Given the description of an element on the screen output the (x, y) to click on. 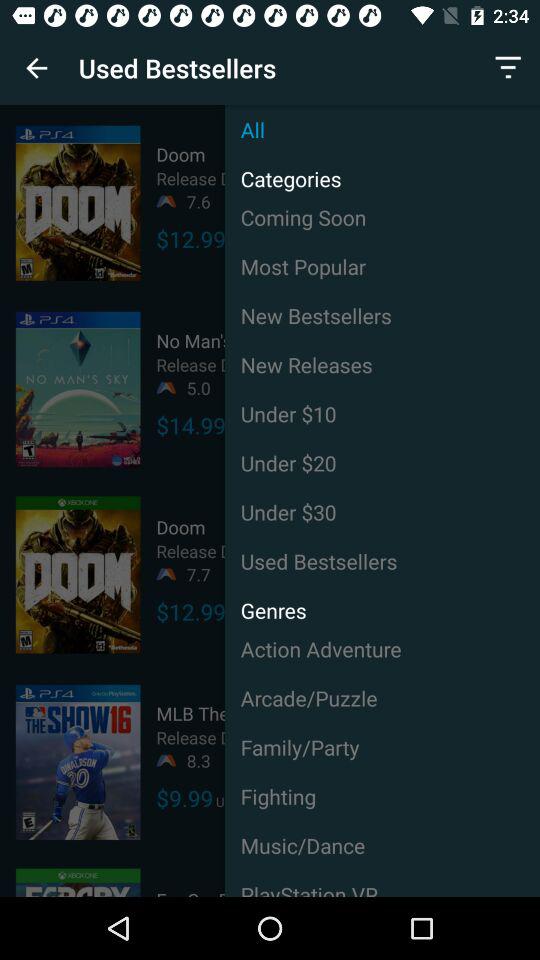
launch the icon to the right of $12.99 (382, 217)
